Given the description of an element on the screen output the (x, y) to click on. 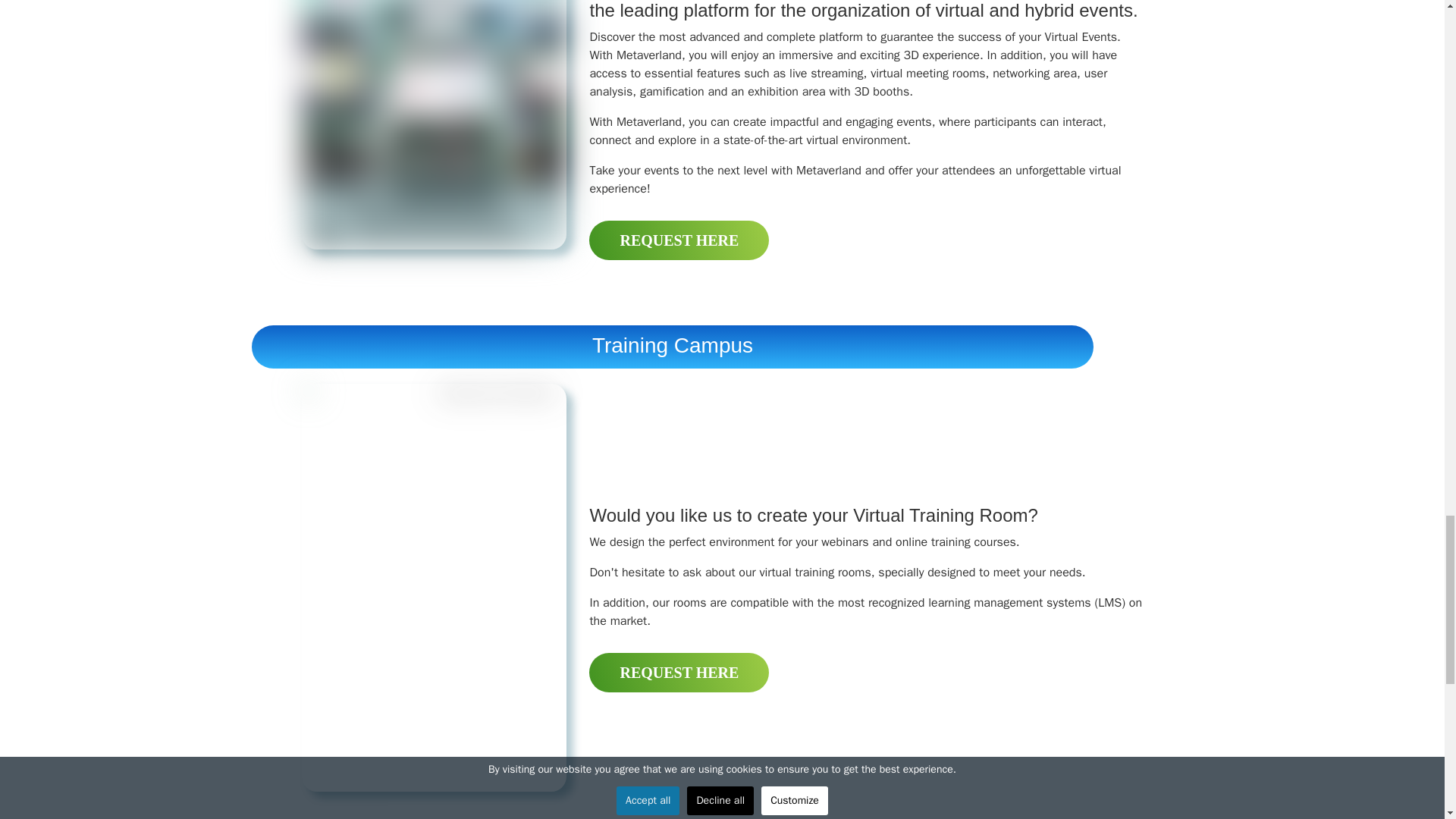
REQUEST HERE (678, 240)
REQUEST HERE (678, 672)
